Given the description of an element on the screen output the (x, y) to click on. 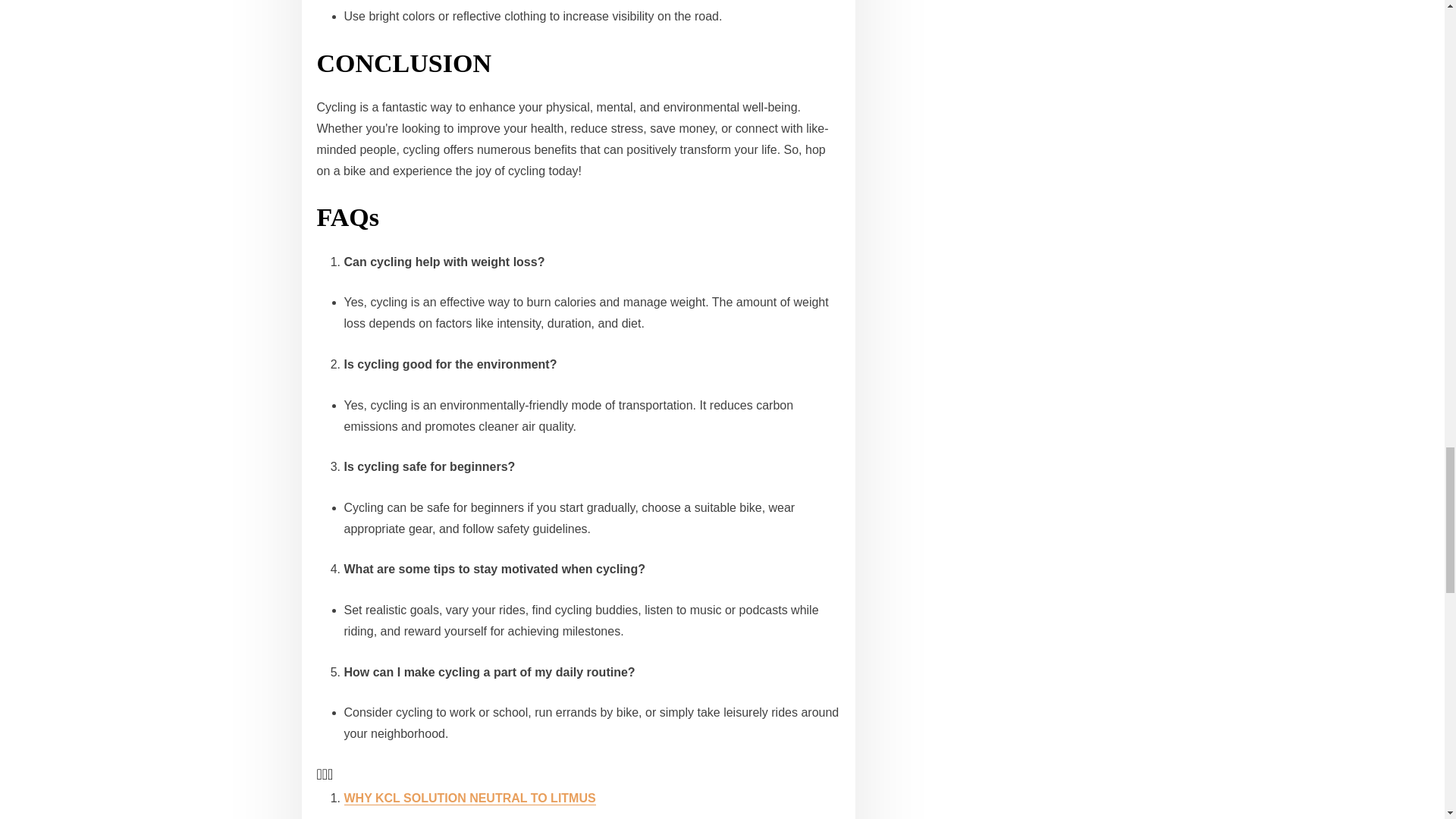
WHY KCL SOLUTION NEUTRAL TO LITMUS (469, 797)
WHY KCL SOLUTION NEUTRAL TO LITMUS (469, 797)
